Given the description of an element on the screen output the (x, y) to click on. 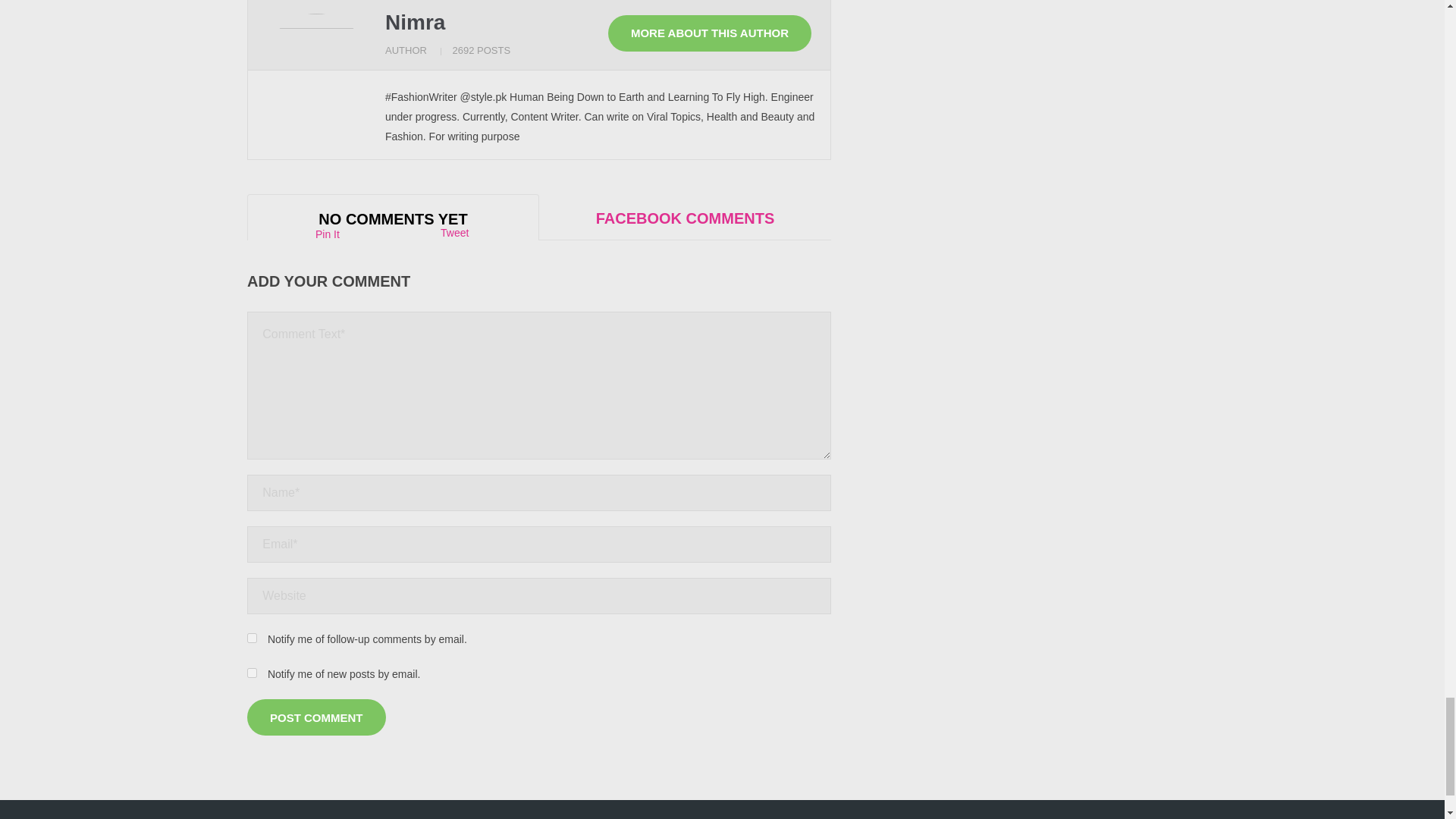
subscribe (252, 673)
Post Comment (316, 717)
subscribe (252, 637)
